Given the description of an element on the screen output the (x, y) to click on. 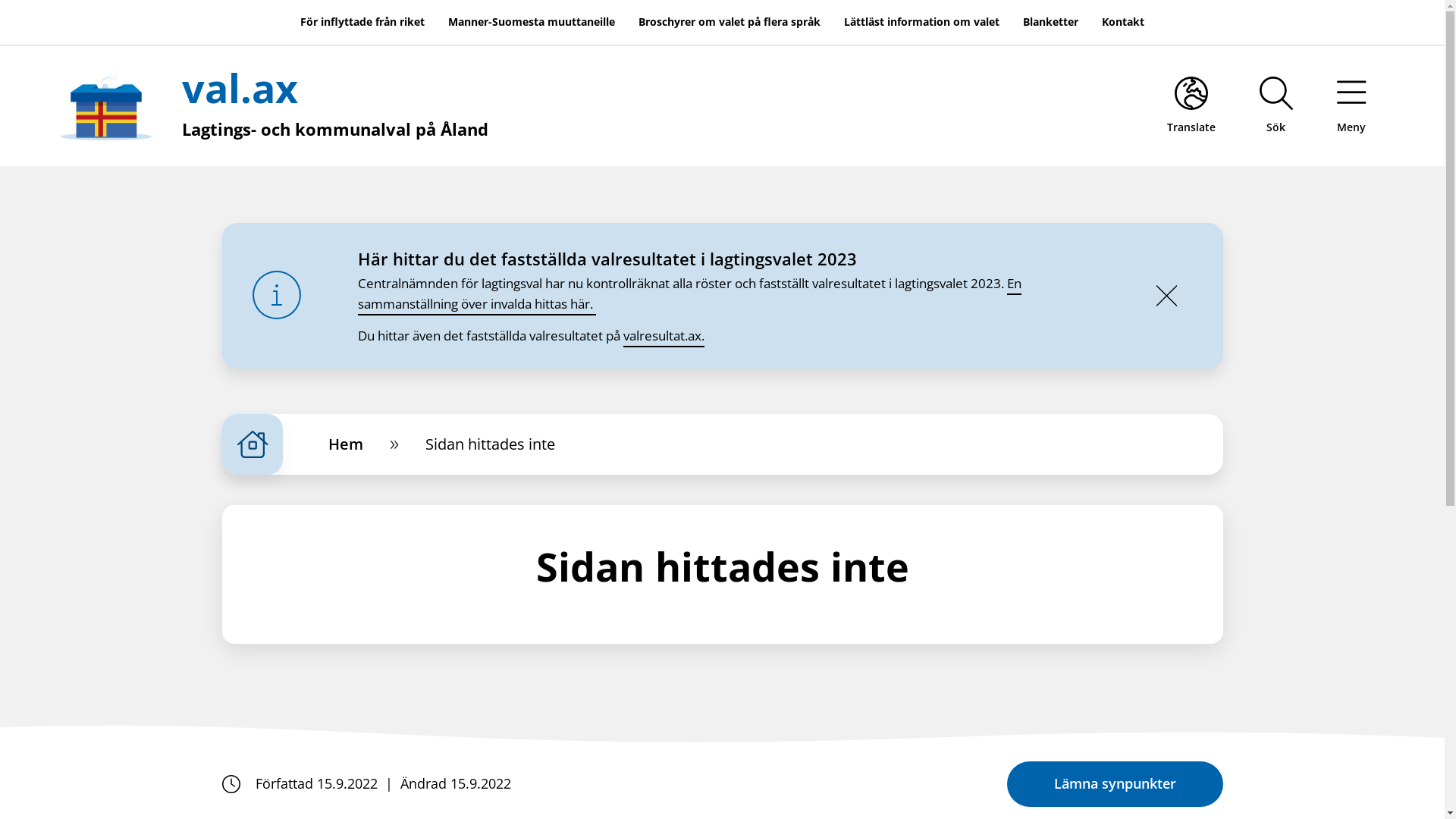
Manner-Suomesta muuttaneille Element type: text (531, 22)
Meny Element type: text (1350, 105)
valresultat.ax. Element type: text (663, 336)
Translate Element type: text (1190, 105)
Blanketter Element type: text (1050, 22)
val.ax Element type: text (240, 87)
Hem Element type: text (345, 444)
Kontakt Element type: text (1123, 22)
